Given the description of an element on the screen output the (x, y) to click on. 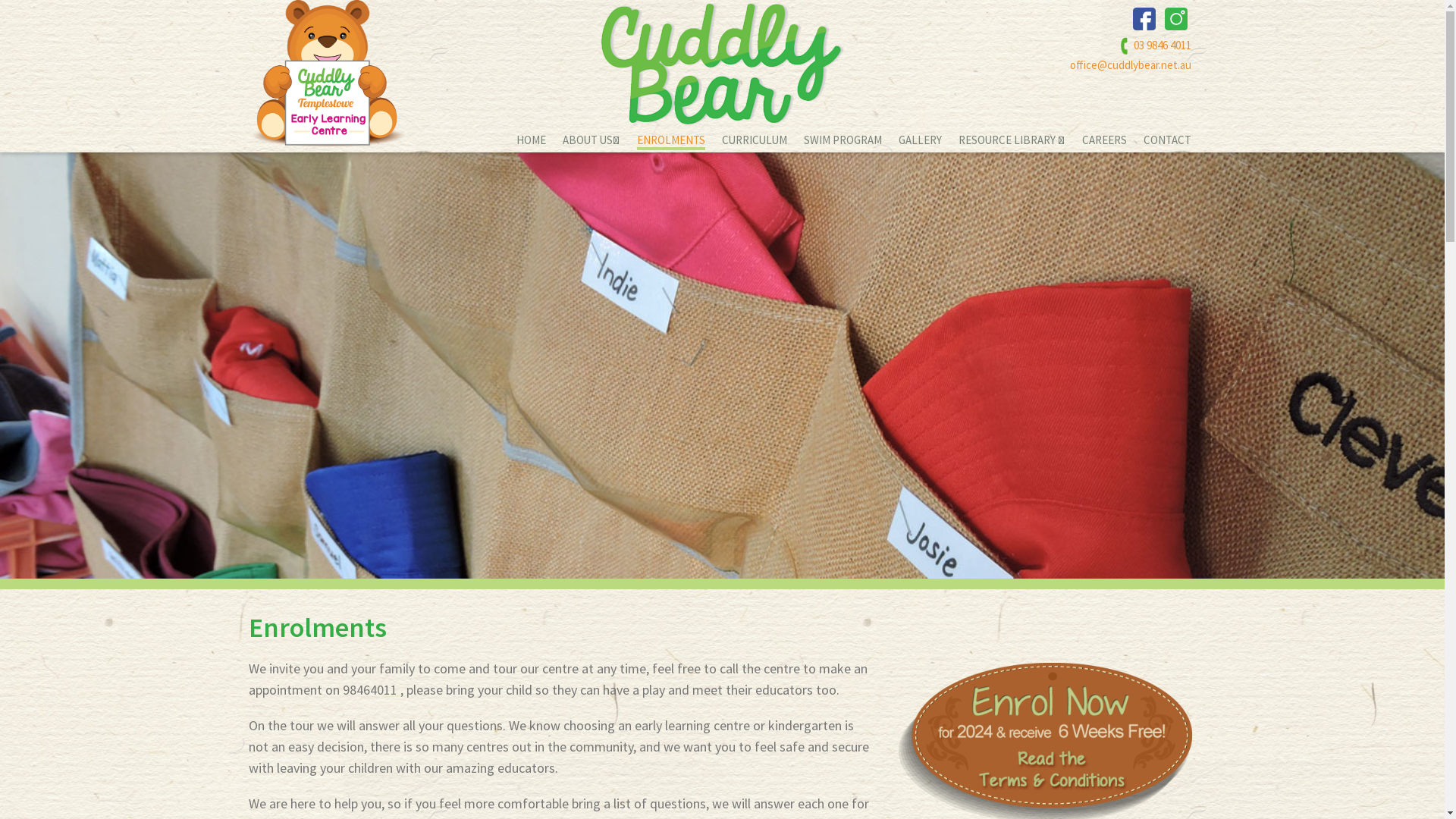
03 9846 4011 Element type: text (1155, 45)
CAREERS Element type: text (1103, 140)
office@cuddlybear.net.au Element type: text (1118, 65)
SWIM PROGRAM Element type: text (842, 140)
CURRICULUM Element type: text (754, 140)
ENROLMENTS Element type: text (671, 140)
GALLERY Element type: text (919, 140)
HOME Element type: text (530, 140)
CONTACT Element type: text (1167, 140)
